Given the description of an element on the screen output the (x, y) to click on. 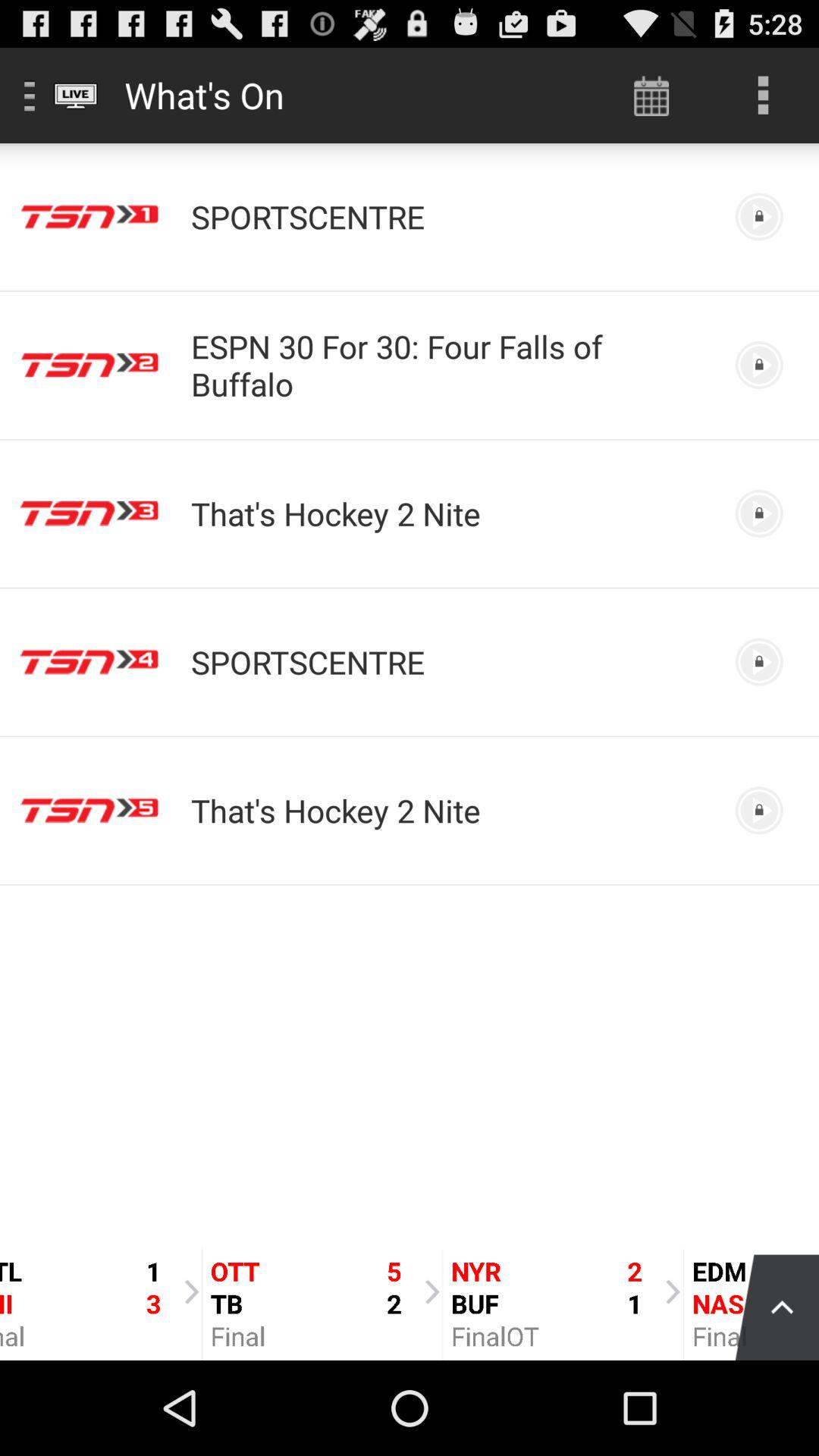
calendar (651, 95)
